Given the description of an element on the screen output the (x, y) to click on. 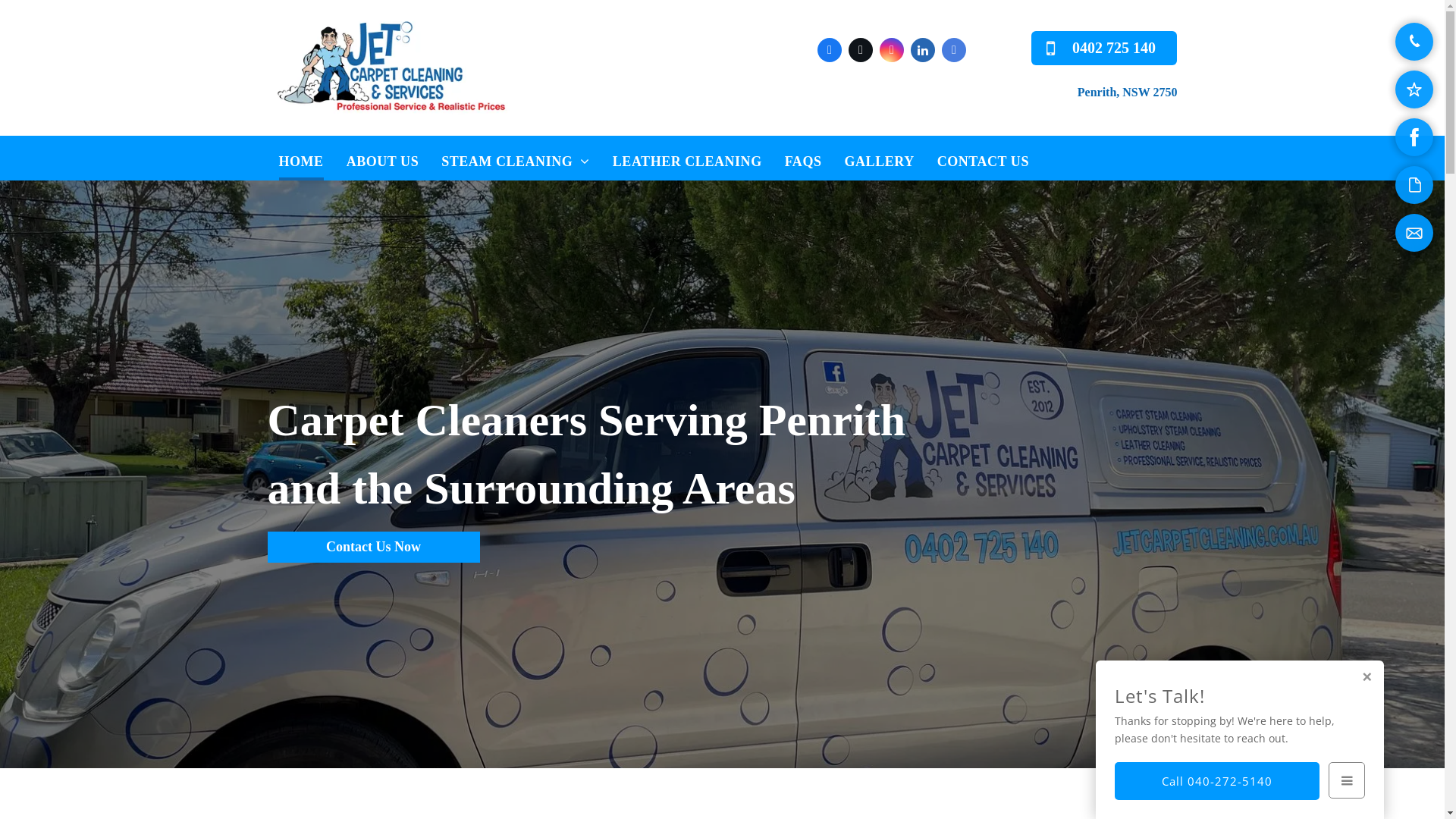
Call 040-272-5140 Element type: text (1216, 781)
Jet Carpet Cleaning and Services Element type: hover (390, 67)
STEAM CLEANING Element type: text (515, 157)
CONTACT US Element type: text (982, 157)
Penrith, NSW 2750 Element type: text (1127, 91)
GALLERY Element type: text (879, 157)
Contact Us Now Element type: text (372, 546)
LEATHER CLEANING Element type: text (687, 157)
ABOUT US Element type: text (382, 157)
FAQS Element type: text (803, 157)
HOME Element type: text (300, 157)
0402 725 140 Element type: text (1103, 48)
